Given the description of an element on the screen output the (x, y) to click on. 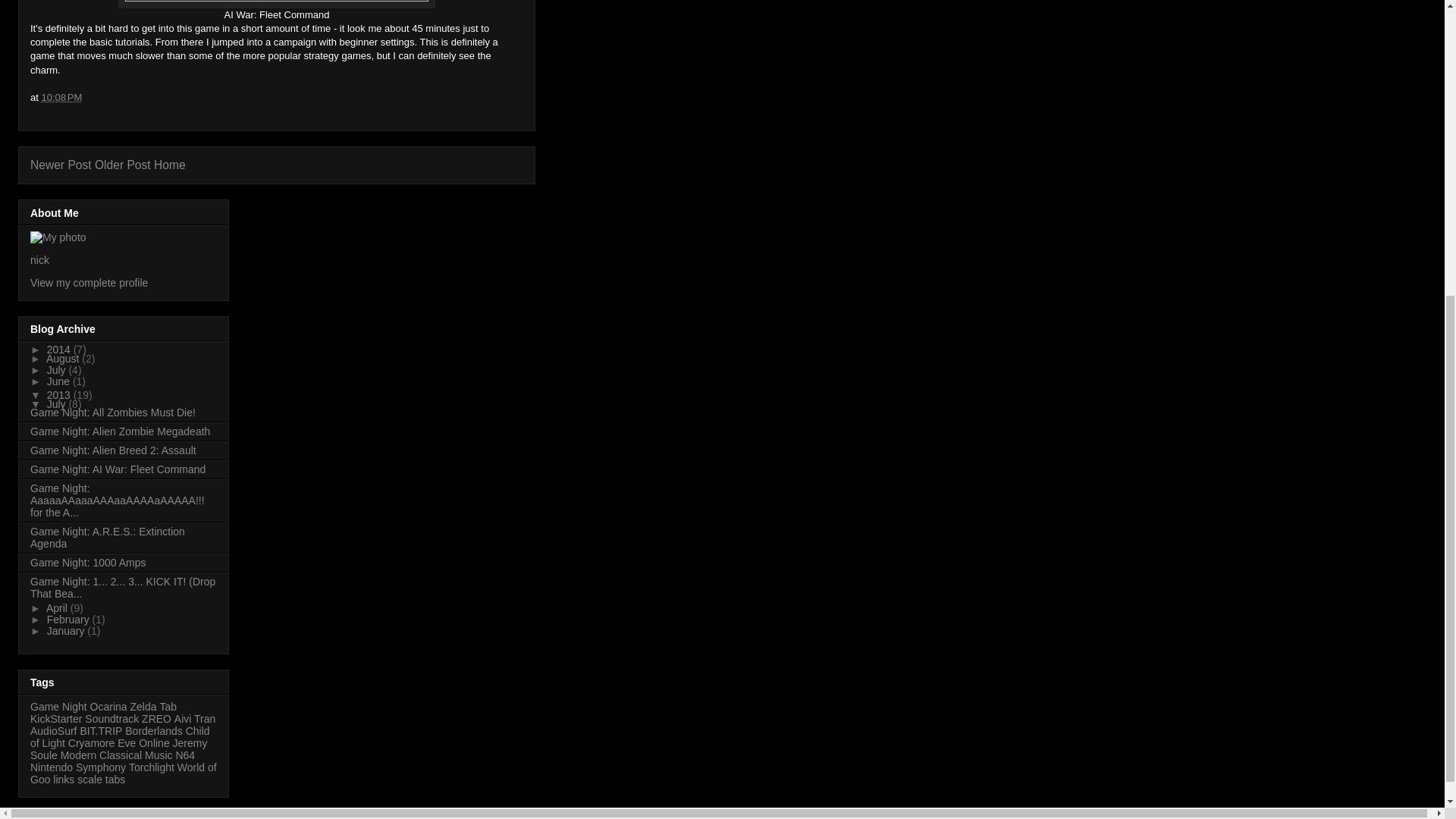
June (59, 381)
Newer Post (60, 164)
Game Night: AaaaaAAaaaAAAaaAAAAaAAAAA!!! for the A... (117, 500)
Older Post (122, 164)
2013 (60, 395)
nick (39, 259)
August (63, 358)
Game Night: Alien Breed 2: Assault (113, 450)
Game Night: AI War: Fleet Command (117, 469)
2014 (60, 349)
Game Night: Alien Zombie Megadeath (119, 431)
permanent link (60, 97)
Game Night: All Zombies Must Die! (112, 412)
View my complete profile (89, 282)
January (66, 630)
